Given the description of an element on the screen output the (x, y) to click on. 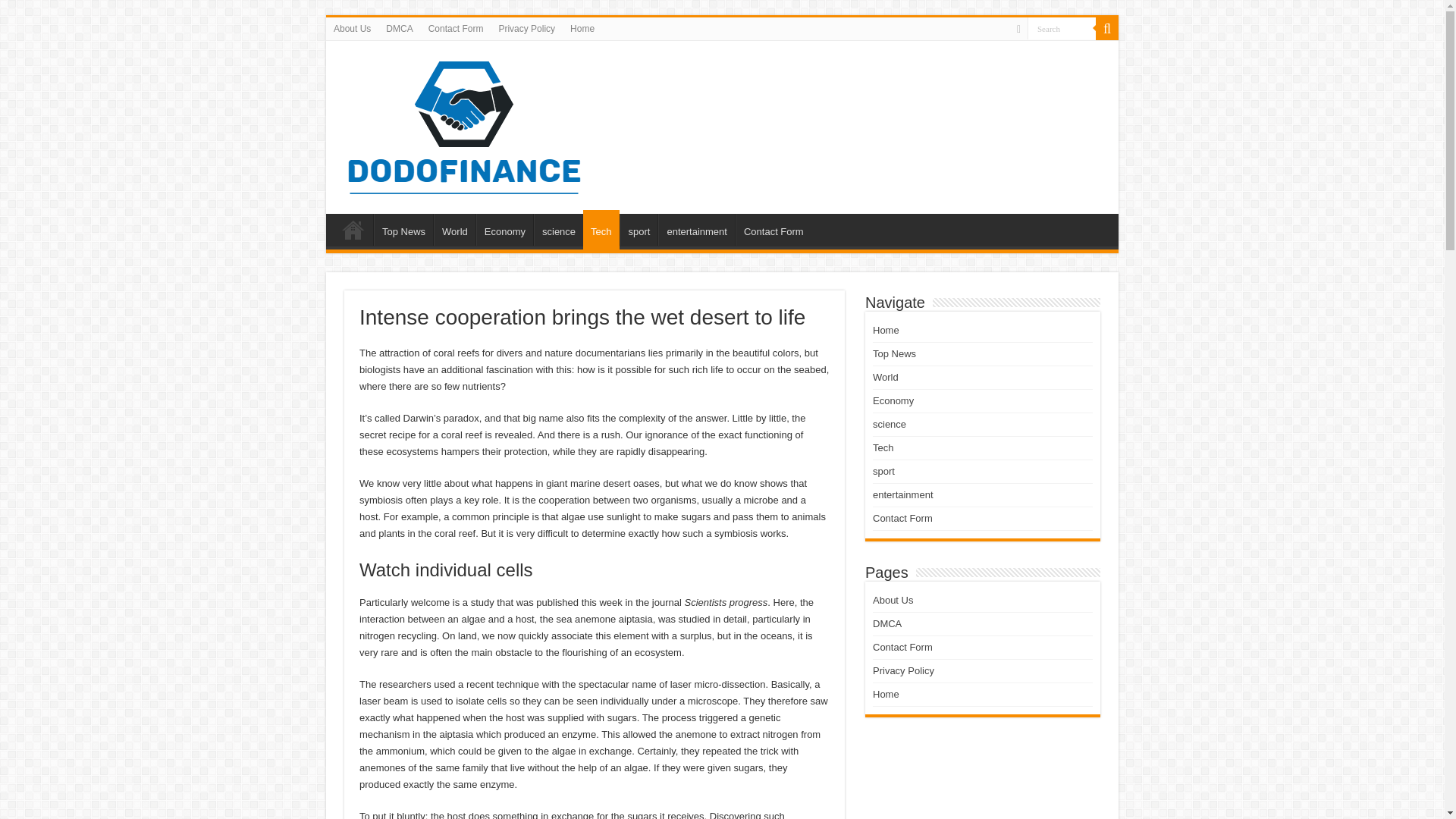
Search (1061, 28)
World (885, 377)
Search (1061, 28)
sport (639, 229)
DodoFinance (464, 124)
Contact Form (456, 28)
Top News (403, 229)
Search (1107, 28)
Tech (600, 229)
Search (1061, 28)
Home (885, 329)
science (558, 229)
Economy (504, 229)
World (454, 229)
entertainment (696, 229)
